Given the description of an element on the screen output the (x, y) to click on. 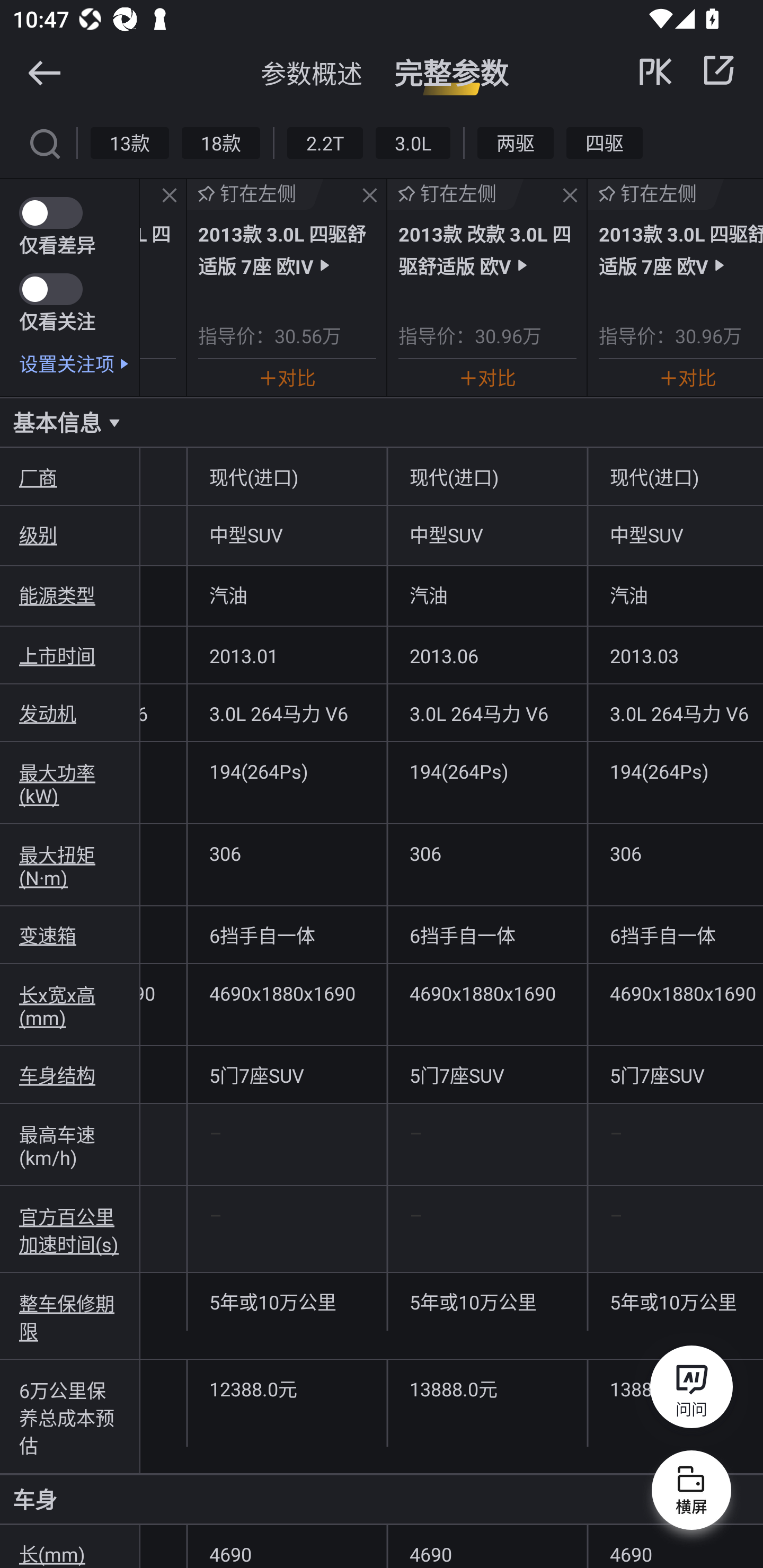
  (688, 70)
参数概述 (311, 72)
 (718, 70)
 (44, 71)
 (44, 142)
13款 (129, 142)
18款 (220, 142)
2.2T (324, 142)
3.0L (412, 142)
两驱 (515, 142)
四驱 (604, 142)
 (168, 195)
 钉在左侧 (254, 194)
 (369, 195)
 钉在左侧 (455, 194)
 (569, 195)
 钉在左侧 (655, 194)
2013款 3.0L 四驱舒适版 7座 欧IV  (287, 249)
2013款 改款 3.0L 四驱舒适版 欧V  (487, 249)
2013款 3.0L 四驱舒适版 7座 欧V  (680, 249)
设置关注项  (79, 363)
对比 (286, 377)
对比 (486, 377)
对比 (687, 377)
基本信息  (381, 422)
厂商 (69, 477)
现代(进口) (286, 477)
现代(进口) (487, 477)
现代(进口) (675, 477)
级别 (69, 534)
中型SUV (286, 534)
中型SUV (487, 534)
中型SUV (675, 534)
能源类型 (69, 595)
汽油 (286, 595)
汽油 (487, 595)
汽油 (675, 595)
上市时间 (69, 655)
2013.01 (286, 655)
2013.06 (487, 655)
2013.03 (675, 655)
发动机 (69, 712)
3.0L 264马力 V6 (286, 712)
3.0L 264马力 V6 (487, 712)
3.0L 264马力 V6 (675, 712)
最大功率(kW) (69, 782)
194(264Ps) (286, 770)
194(264Ps) (487, 770)
194(264Ps) (675, 770)
最大扭矩(N·m) (69, 865)
306 (286, 852)
306 (487, 852)
306 (675, 852)
变速箱 (69, 935)
6挡手自一体 (286, 935)
6挡手自一体 (487, 935)
6挡手自一体 (675, 935)
长x宽x高(mm) (69, 1004)
4690x1880x1690 (286, 993)
4690x1880x1690 (487, 993)
4690x1880x1690 (675, 993)
车身结构 (69, 1074)
5门7座SUV (286, 1074)
5门7座SUV (487, 1074)
5门7座SUV (675, 1074)
官方百公里加速时间(s) (69, 1229)
整车保修期限 (69, 1316)
5年或10万公里 (286, 1302)
5年或10万公里 (487, 1302)
5年或10万公里 (675, 1302)
 问问 (691, 1389)
6万公里保养总成本预估 (69, 1416)
12388.0元 (286, 1388)
13888.0元 (487, 1388)
长(mm) (69, 1546)
4690 (286, 1546)
4690 (487, 1546)
4690 (675, 1546)
